Given the description of an element on the screen output the (x, y) to click on. 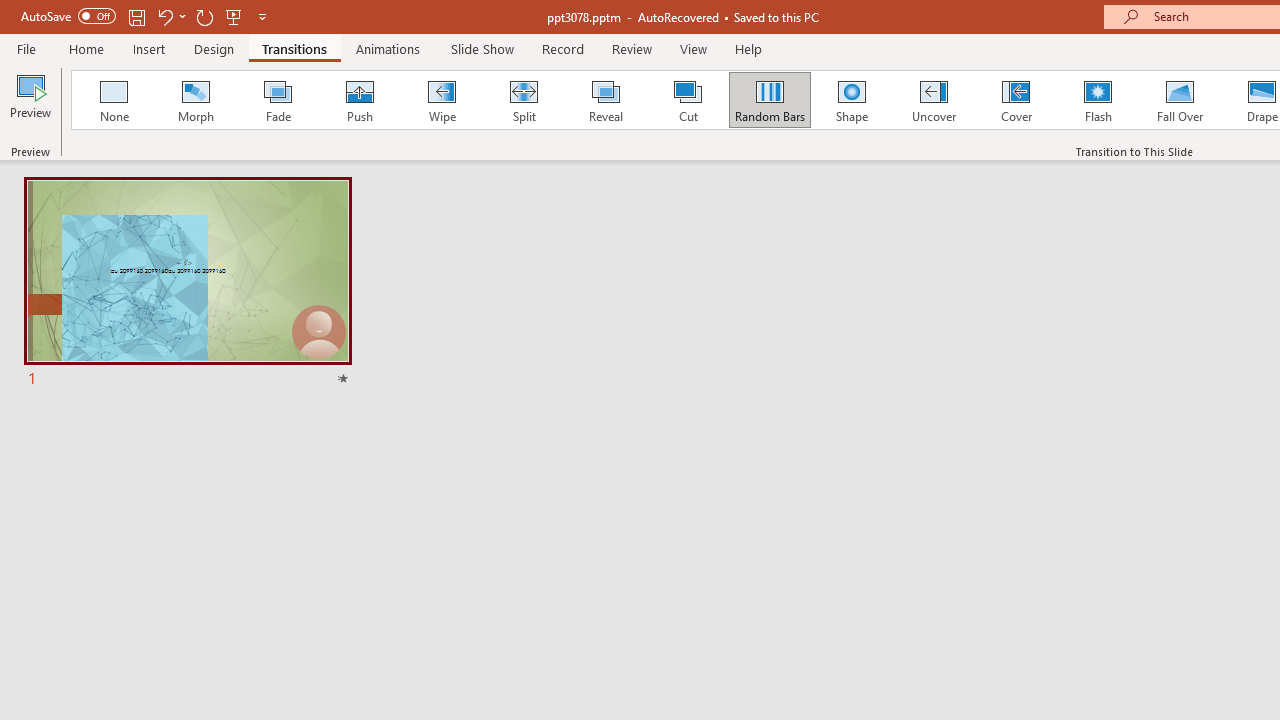
Cover (1016, 100)
Reveal (605, 100)
